Given the description of an element on the screen output the (x, y) to click on. 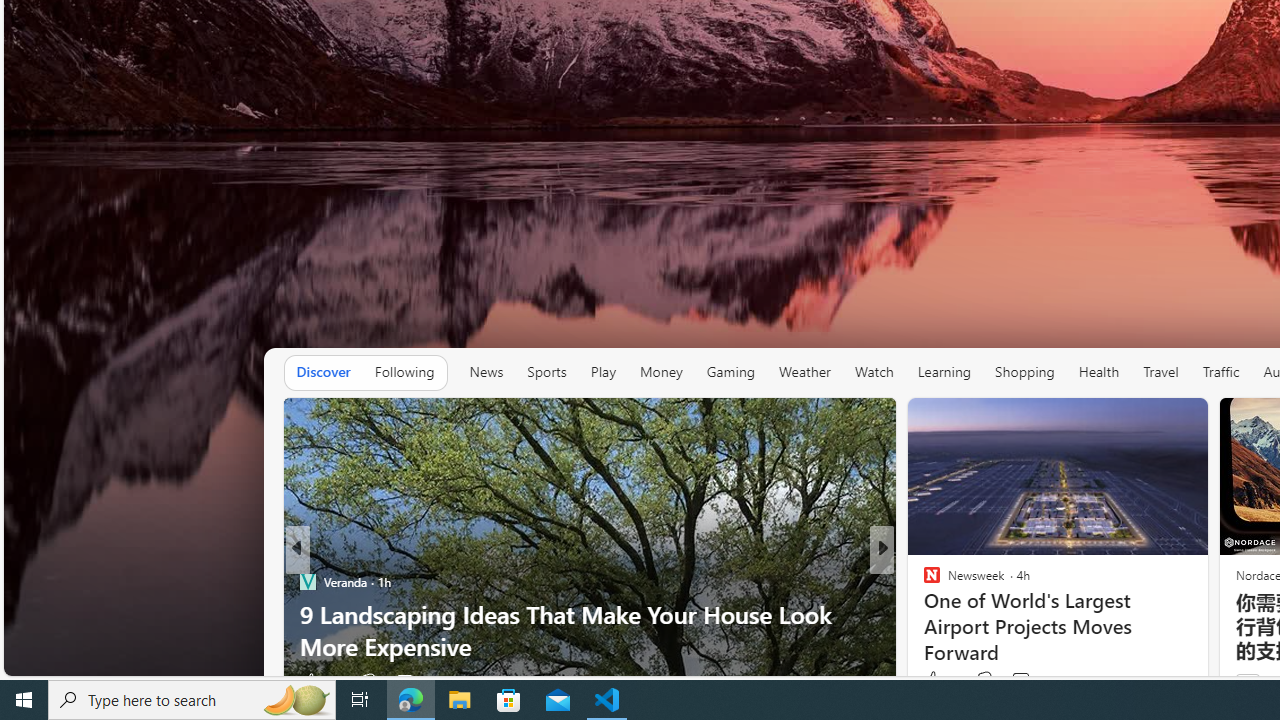
499 Like (320, 681)
TravelPulse (923, 581)
View comments 52 Comment (413, 681)
View comments 33 Comment (1019, 681)
View comments 33 Comment (1029, 681)
View comments 20 Comment (1022, 681)
5 Like (930, 681)
214 Like (936, 681)
View comments 104 Comment (1032, 681)
